Given the description of an element on the screen output the (x, y) to click on. 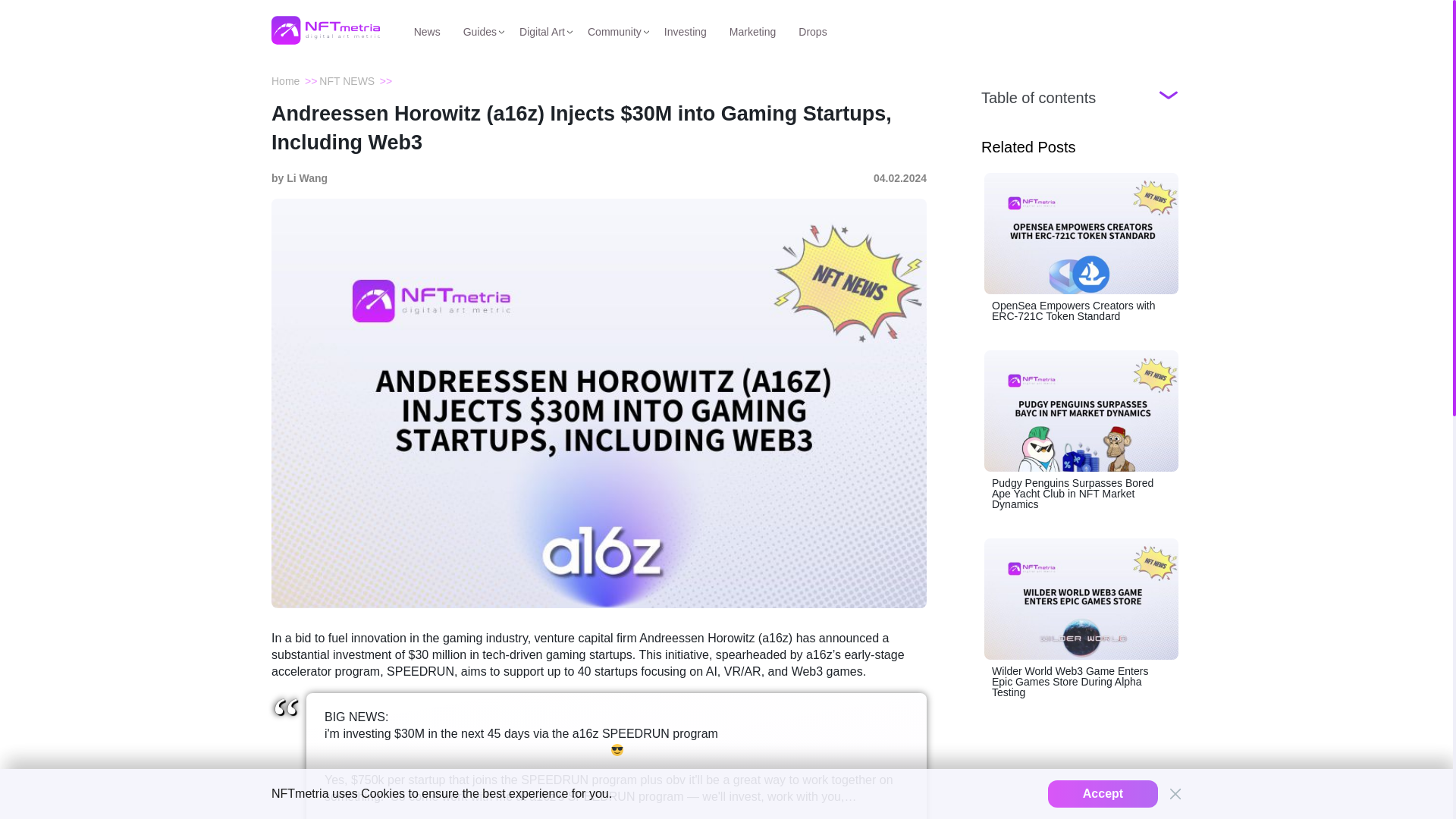
Marketing (752, 30)
Investing (684, 30)
NFT NEWS (346, 80)
Guides (479, 30)
Cookie Policy (382, 793)
Community (615, 30)
Digital Art (541, 30)
Author's (298, 178)
OpenSea Empowers Creators with ERC-721C Token Standard (1080, 246)
Home (284, 80)
by Li Wang (298, 178)
